Given the description of an element on the screen output the (x, y) to click on. 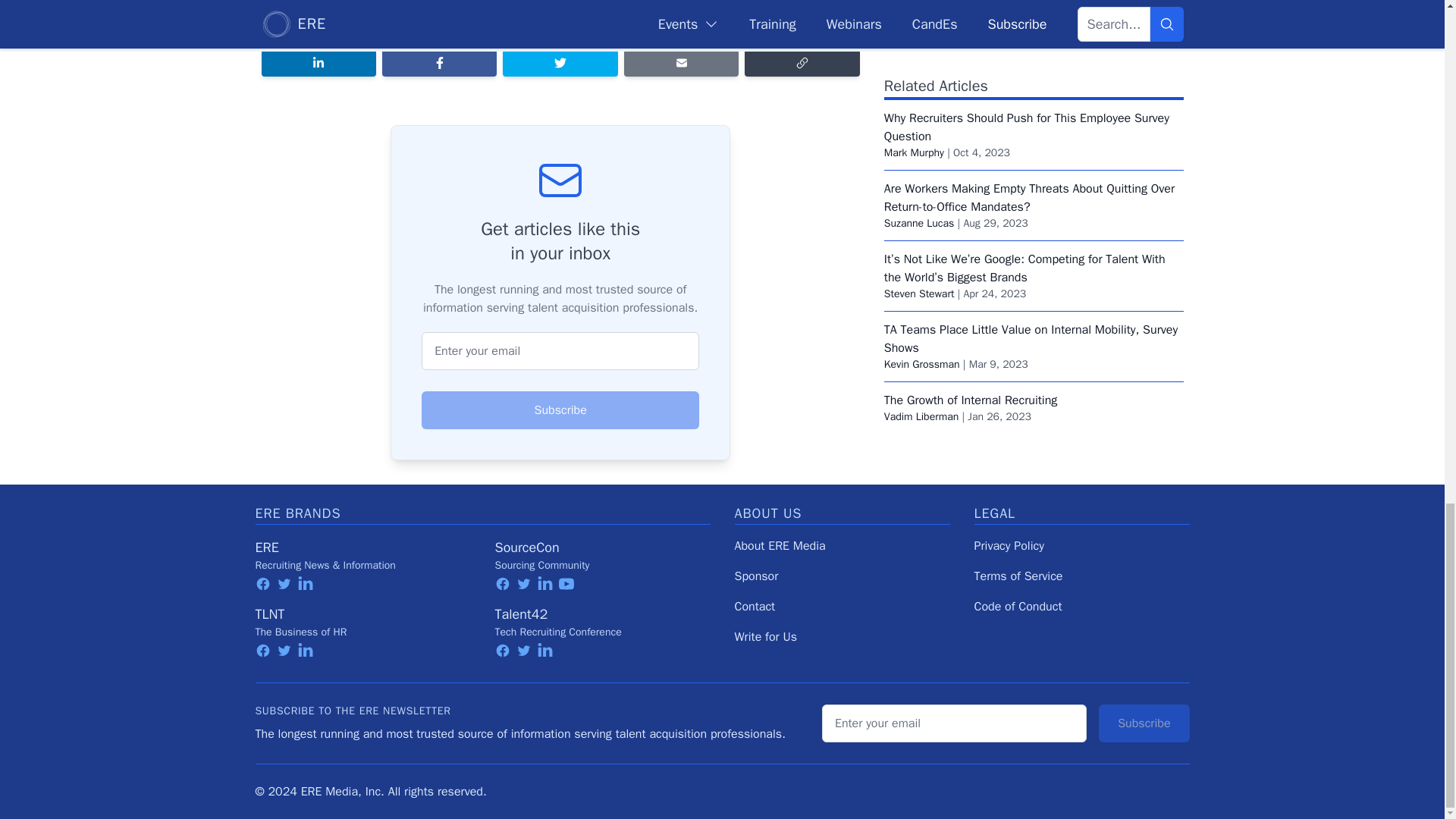
Steven Stewart (919, 271)
Mark Murphy (913, 130)
Suzanne Lucas (919, 201)
Kevin Grossman (921, 341)
Happening on TLNT (536, 24)
Why Recruiters Should Push for This Employee Survey Question (1026, 105)
Subscribe (560, 410)
